Given the description of an element on the screen output the (x, y) to click on. 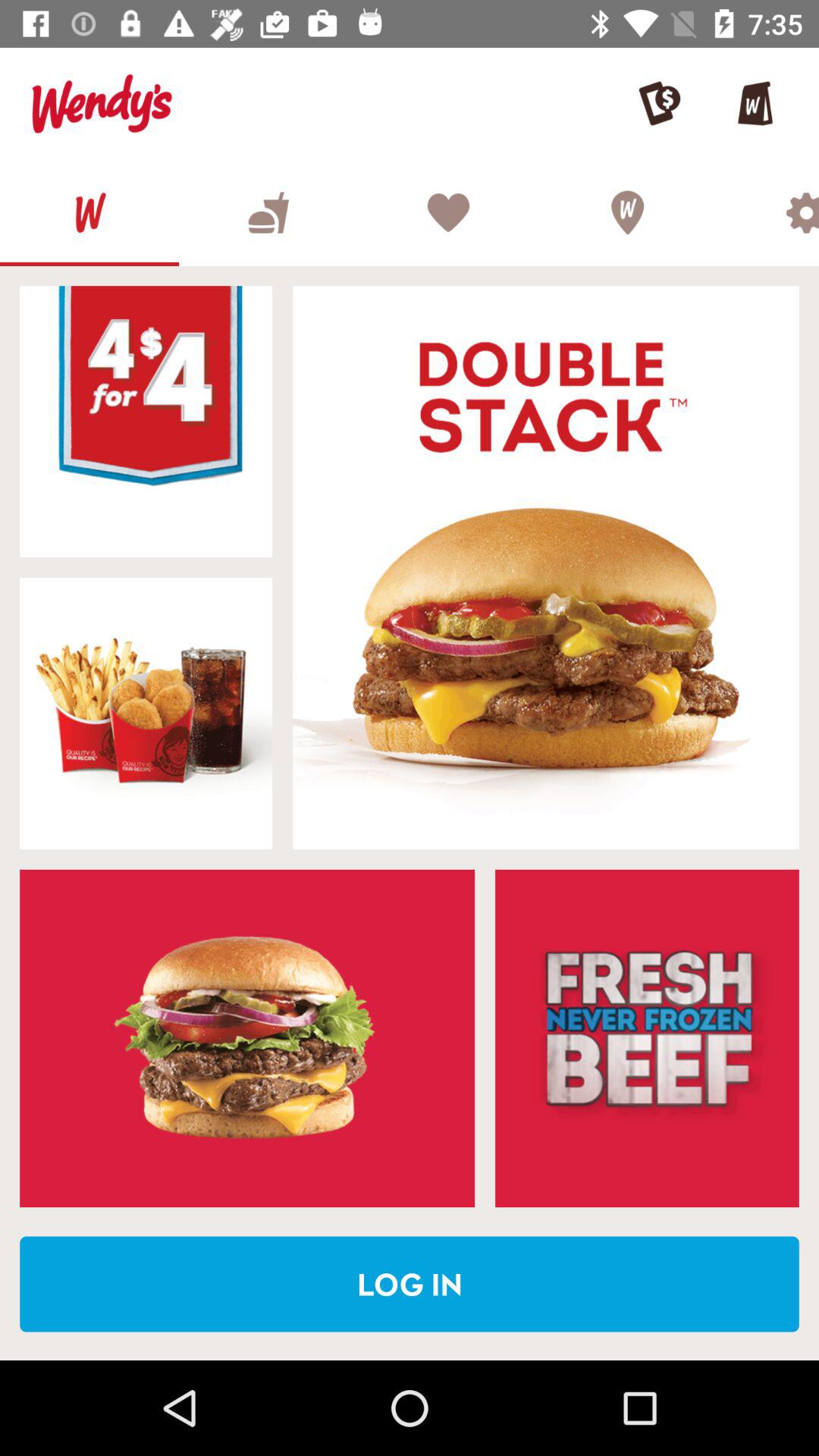
find a location (626, 212)
